Given the description of an element on the screen output the (x, y) to click on. 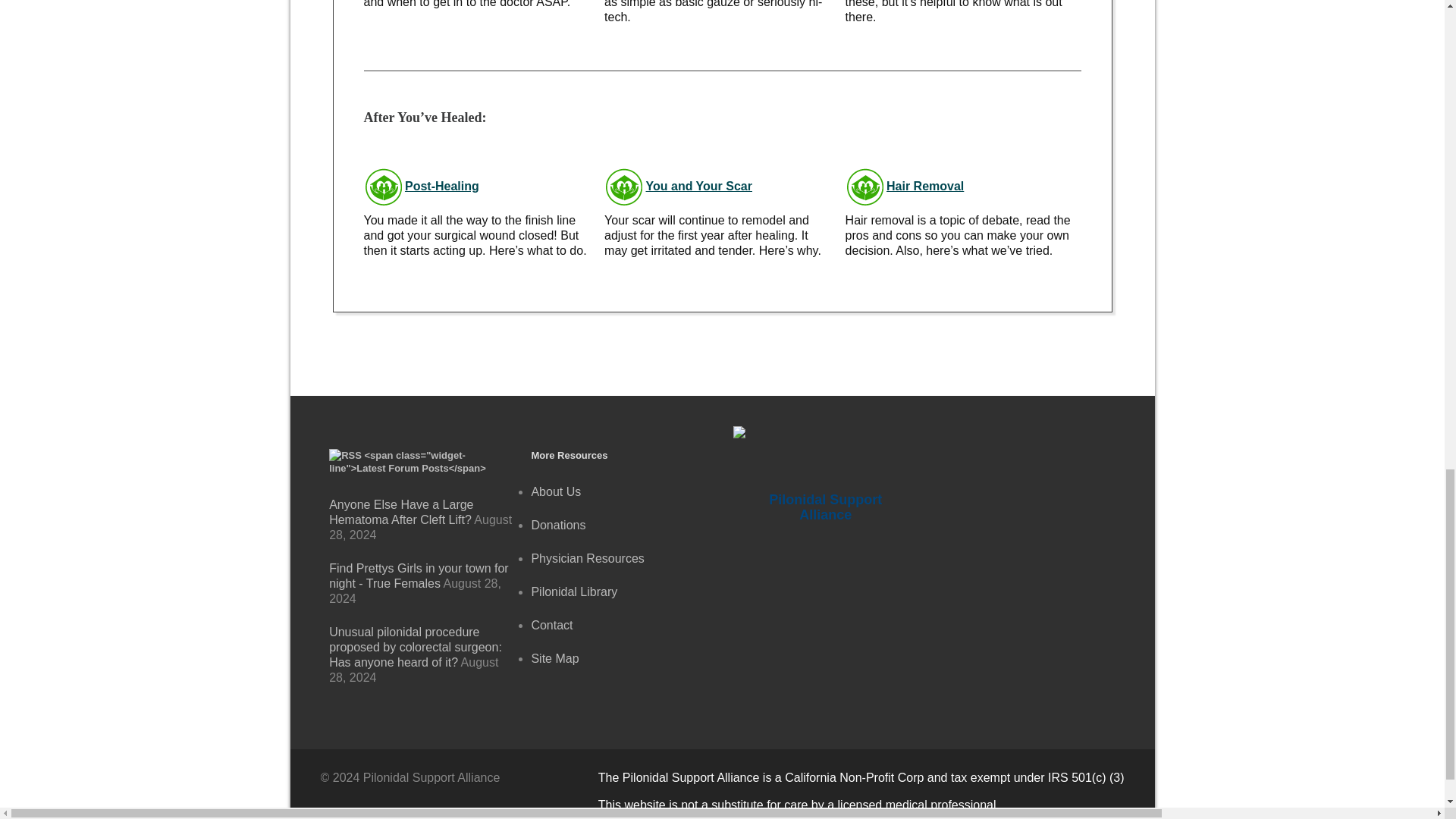
Anyone Else Have a Large Hematoma After Cleft Lift? (401, 511)
Hair Removal (924, 186)
Find Prettys Girls in your town for night - True Females (418, 575)
Contact (551, 625)
Physician Resources (587, 558)
Pilonidal Library (574, 591)
Site Map (554, 658)
You and Your Scar (699, 186)
About Us (555, 491)
